Given the description of an element on the screen output the (x, y) to click on. 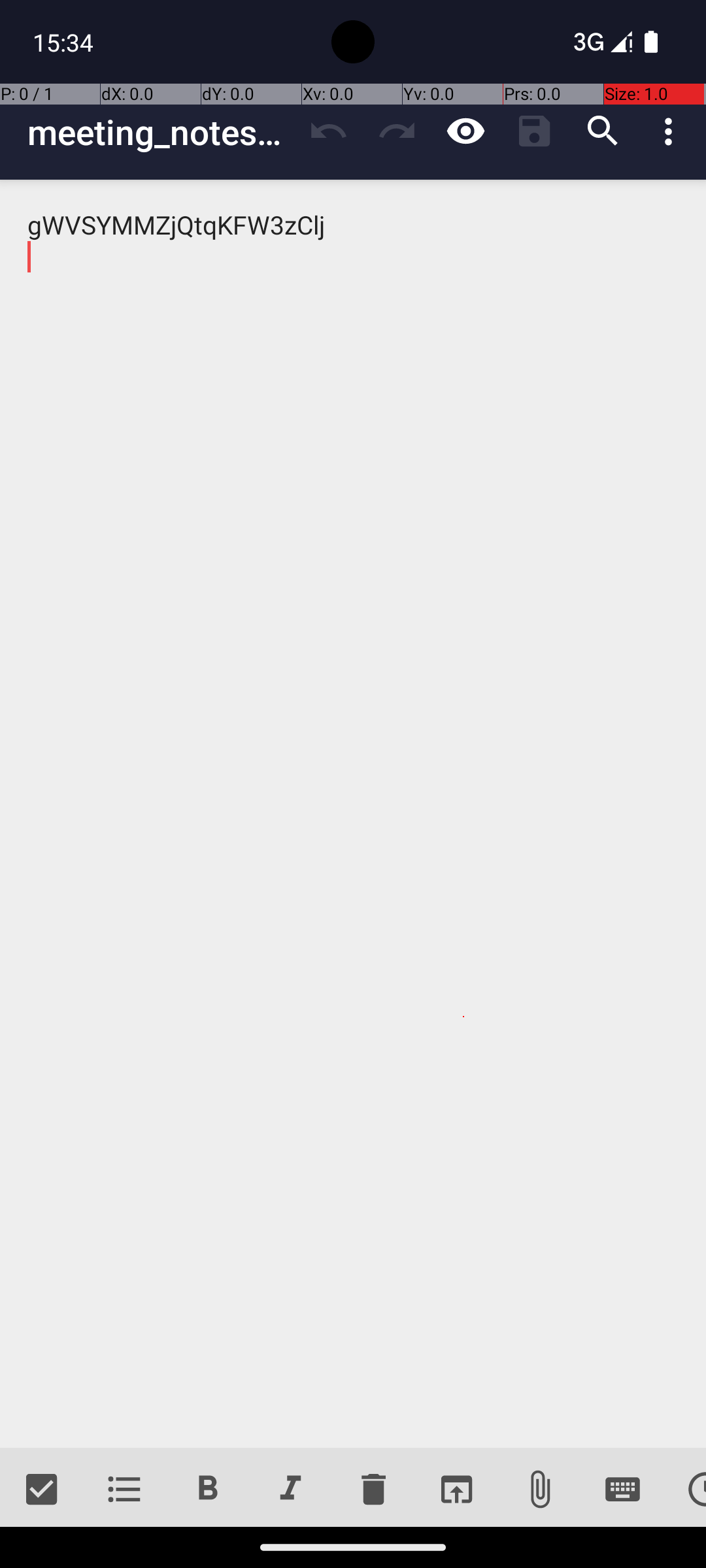
meeting_notes_project_team_final Element type: android.widget.TextView (160, 131)
gWVSYMMZjQtqKFW3zClj
 Element type: android.widget.EditText (353, 813)
